Given the description of an element on the screen output the (x, y) to click on. 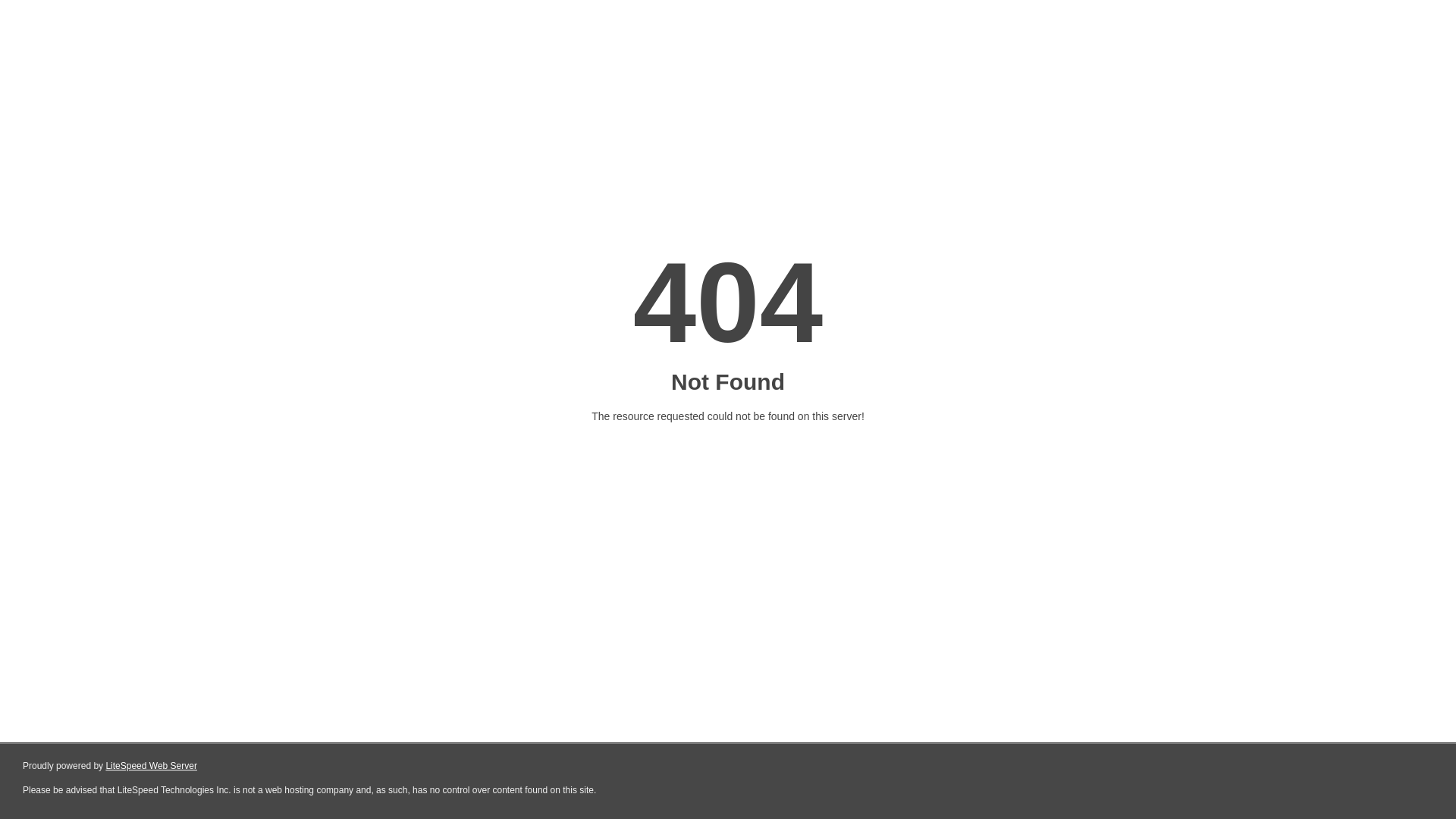
LiteSpeed Web Server Element type: text (151, 765)
